Given the description of an element on the screen output the (x, y) to click on. 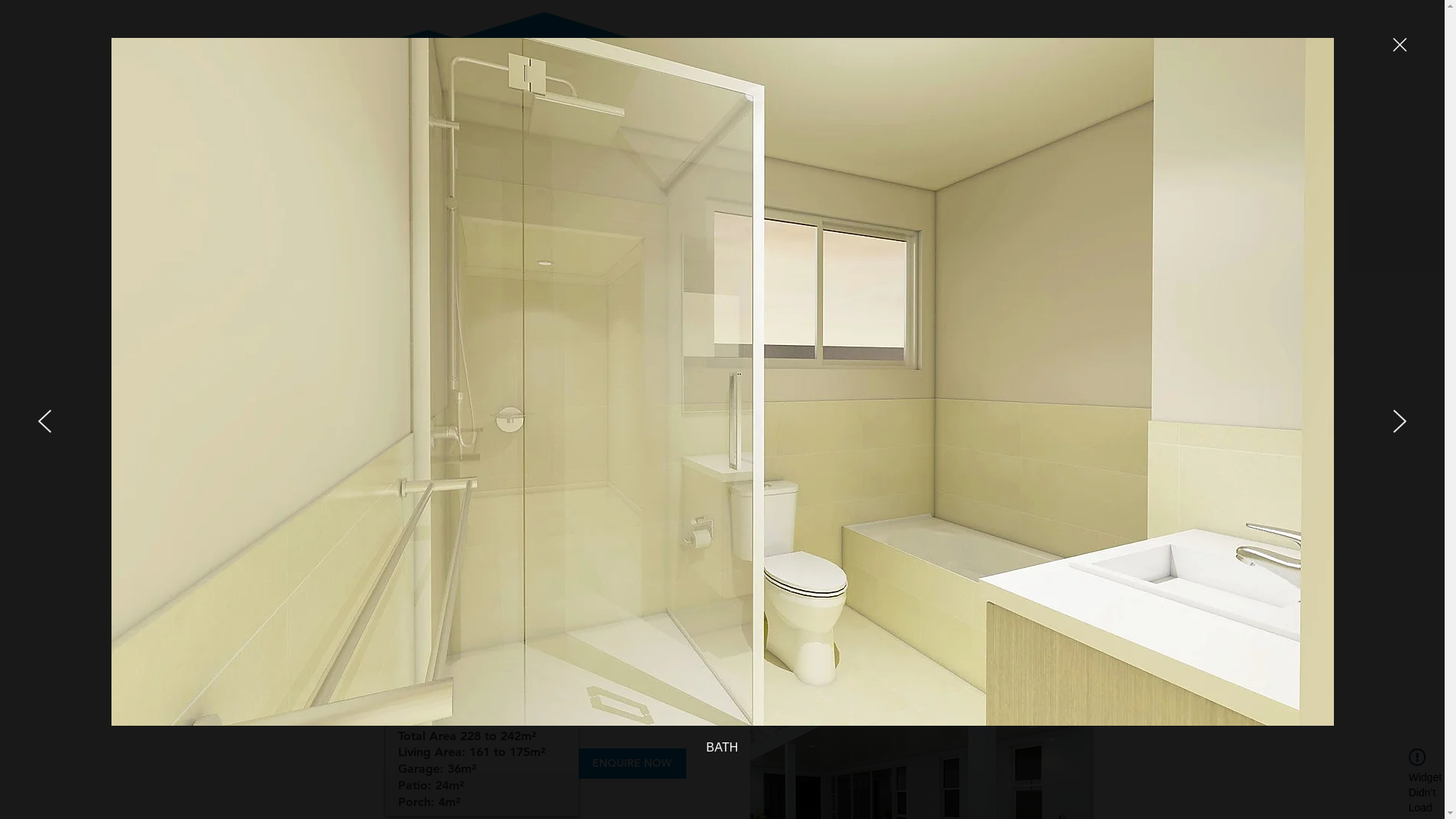
RANGES Element type: text (701, 166)
ENQUIRE NOW Element type: text (631, 762)
COLOUR STUDIO Element type: text (919, 166)
CONTACT Element type: text (1042, 166)
CROMATRY.JPG Element type: hover (721, 448)
HOME Element type: text (609, 166)
DESIGNS Element type: text (798, 166)
